Given the description of an element on the screen output the (x, y) to click on. 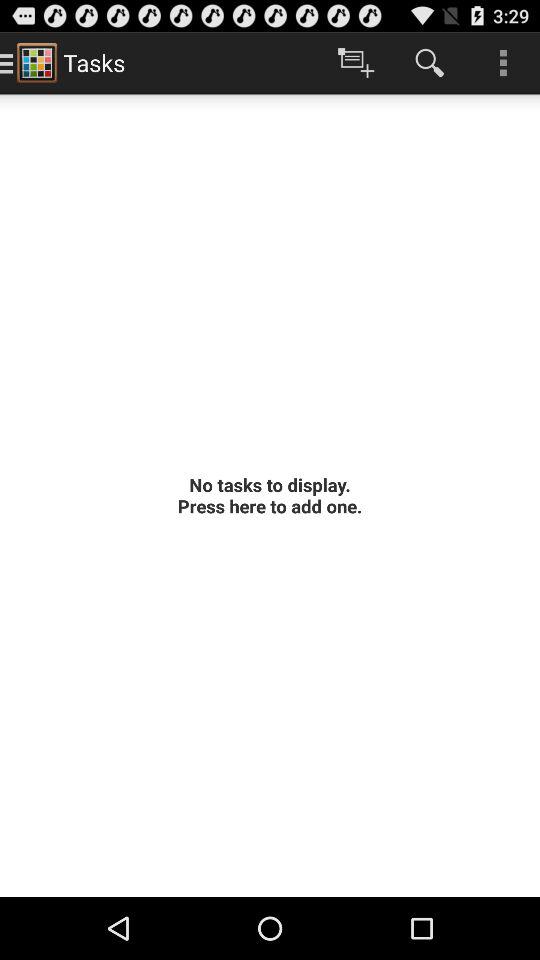
press app next to the tasks app (356, 62)
